Given the description of an element on the screen output the (x, y) to click on. 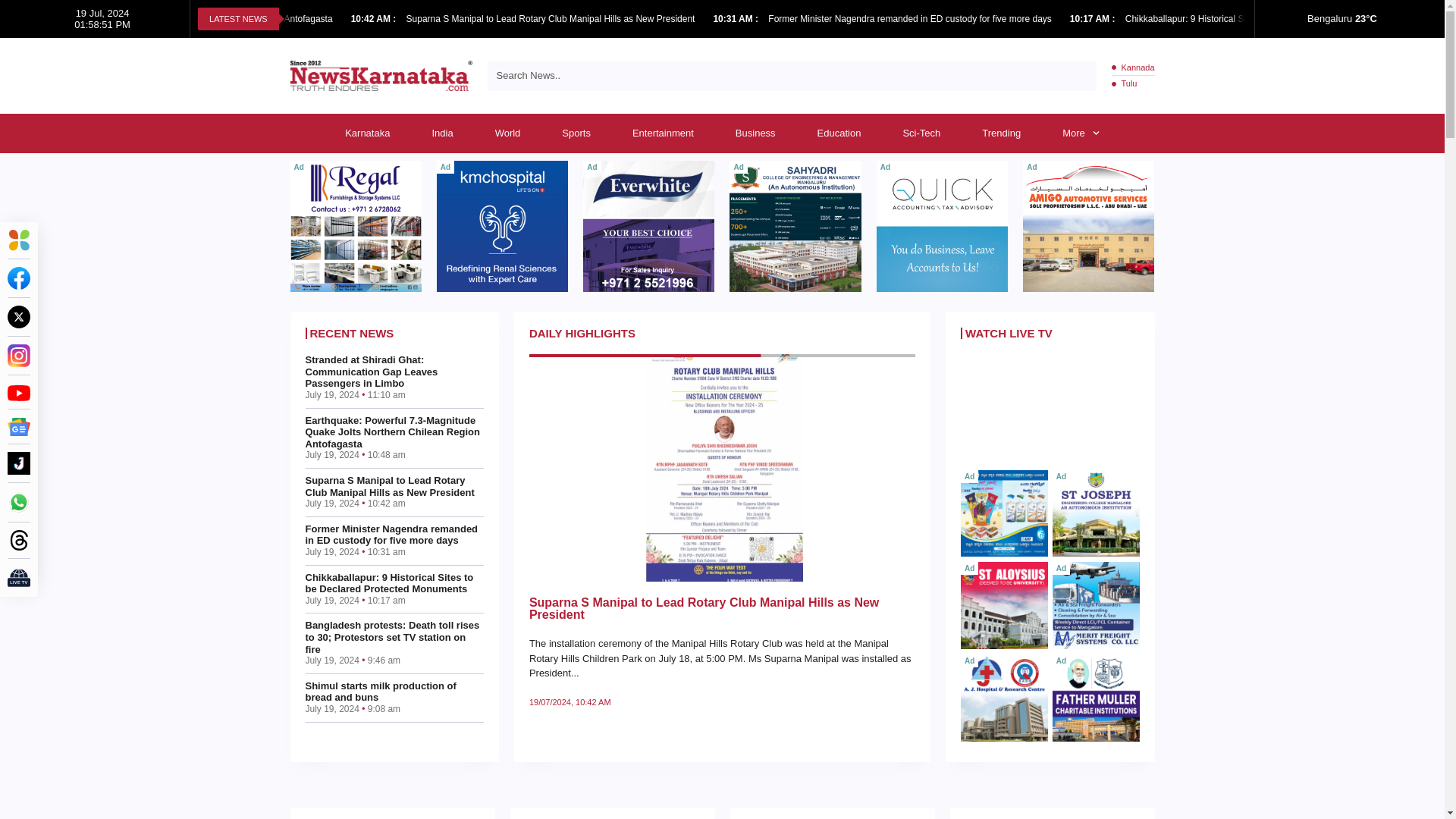
Published on: July 19, 2024 10:31 am (736, 18)
Published on: July 19, 2024 10:42 am (374, 18)
Published on: July 19, 2024 10:17 am (1094, 18)
